Given the description of an element on the screen output the (x, y) to click on. 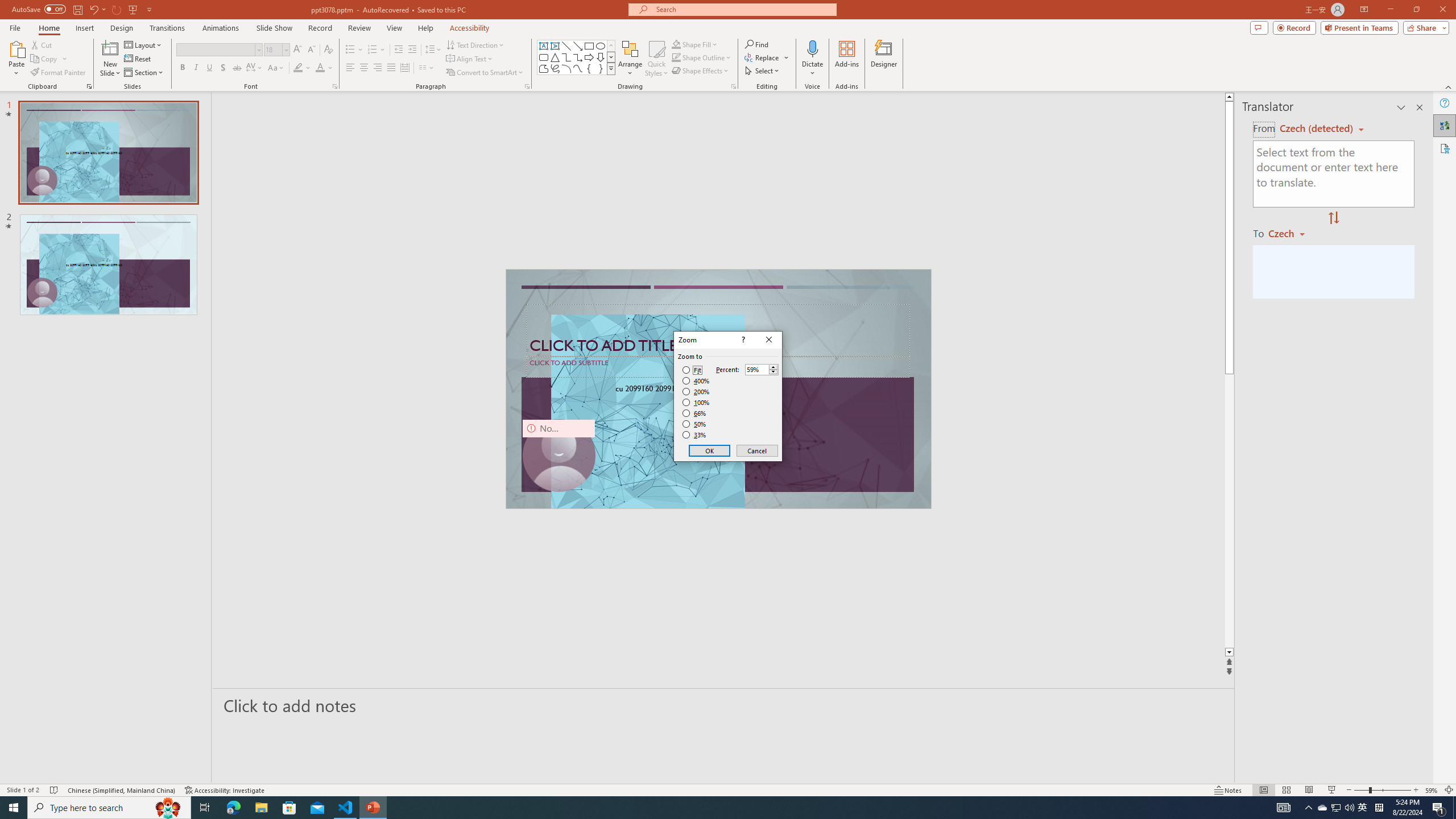
Camera 9, No camera detected. (558, 455)
50% (694, 424)
